Given the description of an element on the screen output the (x, y) to click on. 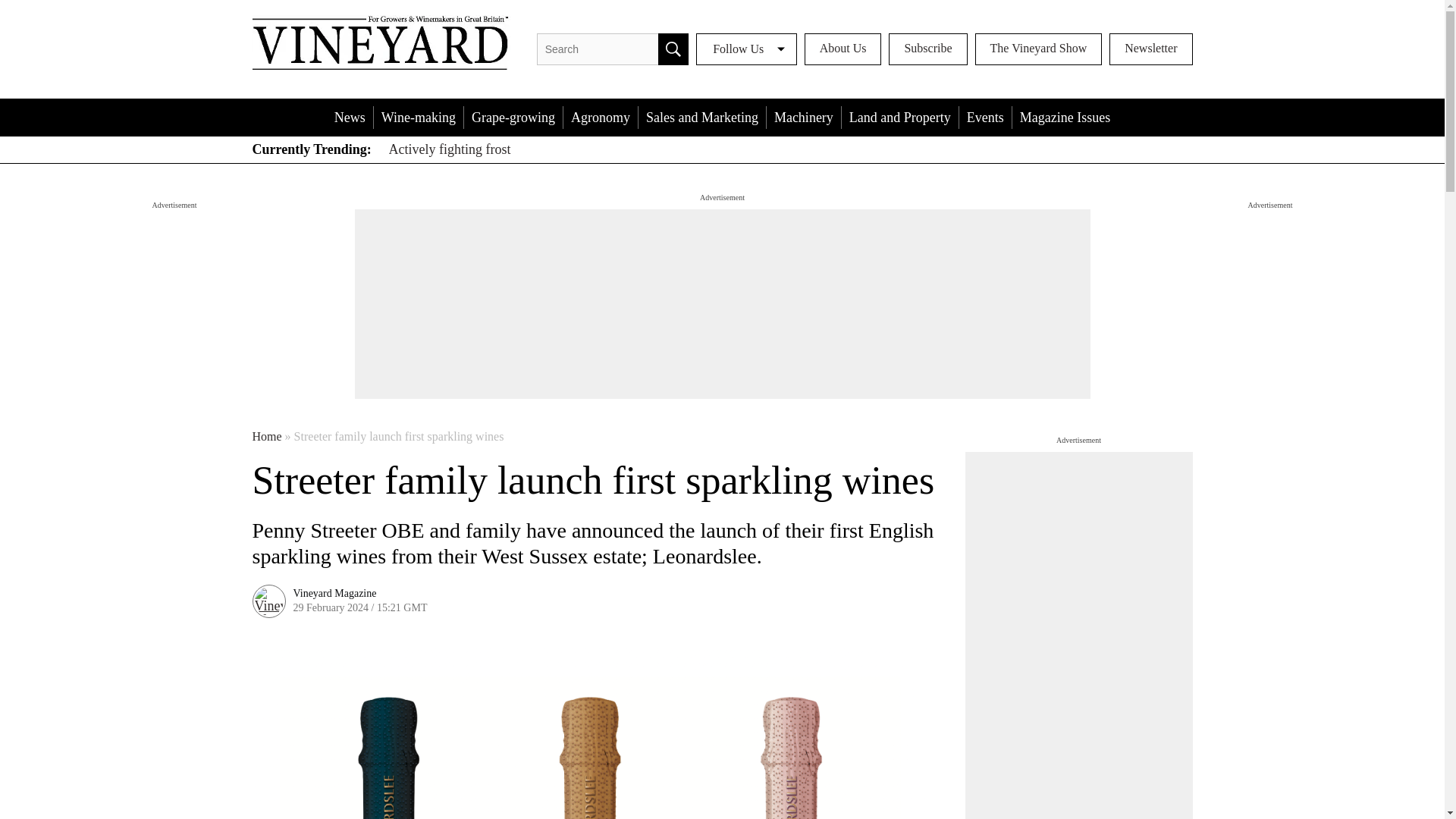
The Vineyard Show (1038, 49)
Sales and Marketing (702, 117)
Home (266, 436)
Follow Us (745, 49)
Wine-making (418, 117)
Machinery (804, 117)
Magazine Issues (1064, 117)
Grape-growing (513, 117)
Actively fighting frost (449, 149)
Land and Property (899, 117)
Newsletter (1150, 49)
Events (985, 117)
Vineyard Magazine (333, 593)
About Us (843, 49)
